Given the description of an element on the screen output the (x, y) to click on. 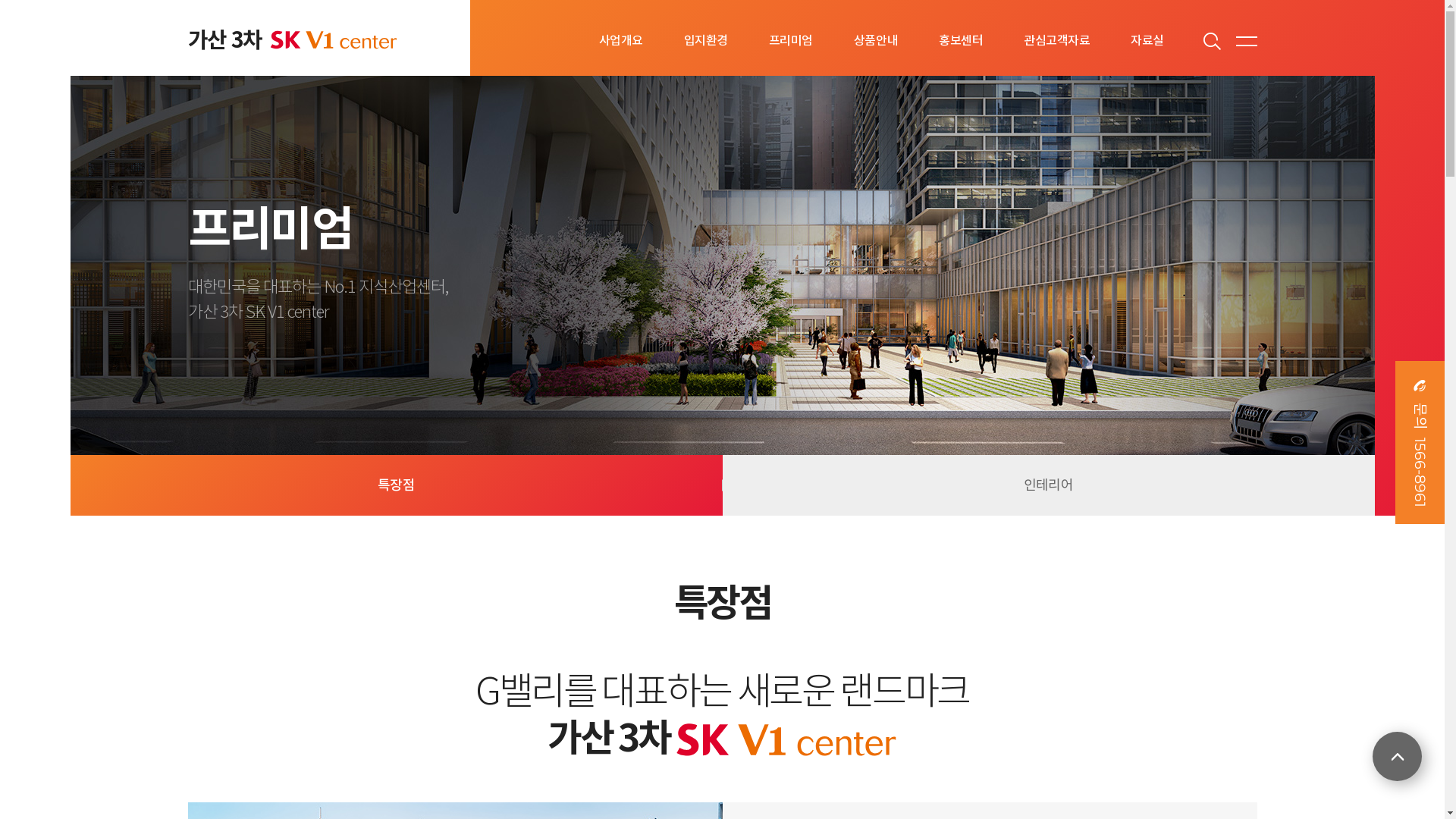
top Element type: text (1396, 756)
